Given the description of an element on the screen output the (x, y) to click on. 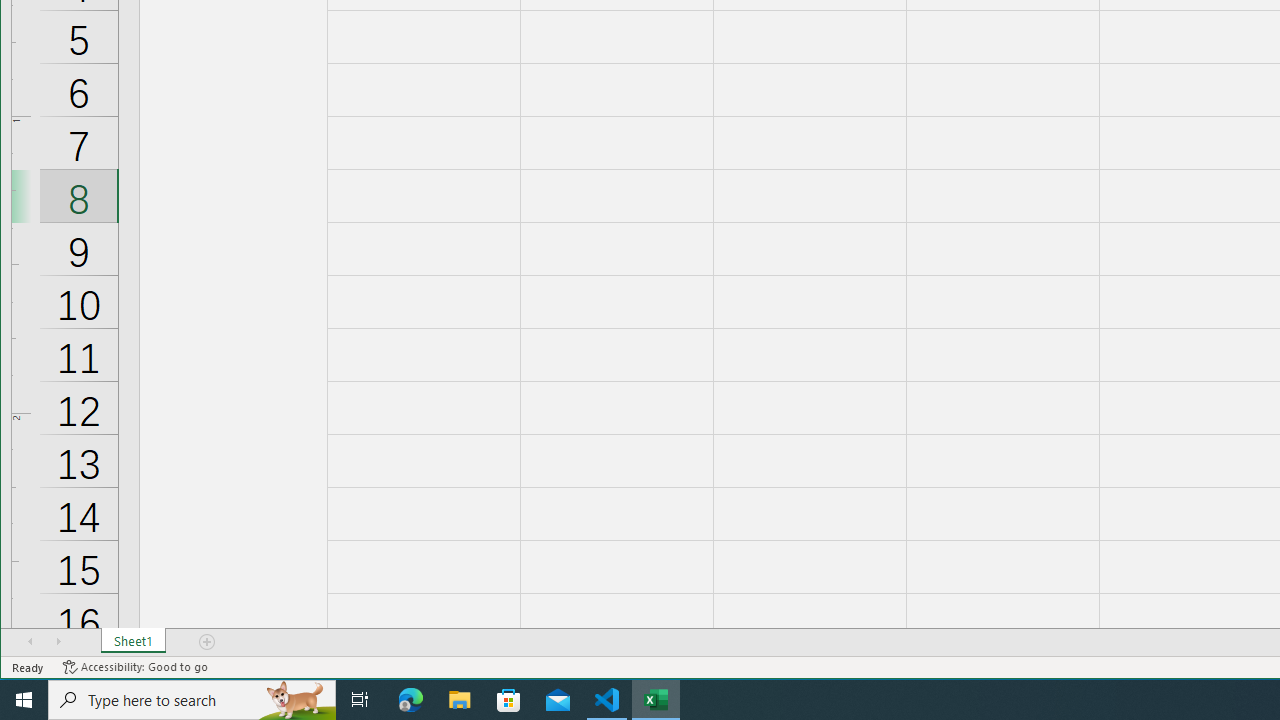
Scroll Right (58, 641)
Accessibility Checker Accessibility: Good to go (135, 667)
Microsoft Edge (411, 699)
File Explorer (460, 699)
Sheet1 (133, 641)
Type here to search (191, 699)
Excel - 1 running window (656, 699)
Task View (359, 699)
Microsoft Store (509, 699)
Add Sheet (207, 641)
Start (24, 699)
Search highlights icon opens search home window (295, 699)
Scroll Left (30, 641)
Visual Studio Code - 1 running window (607, 699)
